Given the description of an element on the screen output the (x, y) to click on. 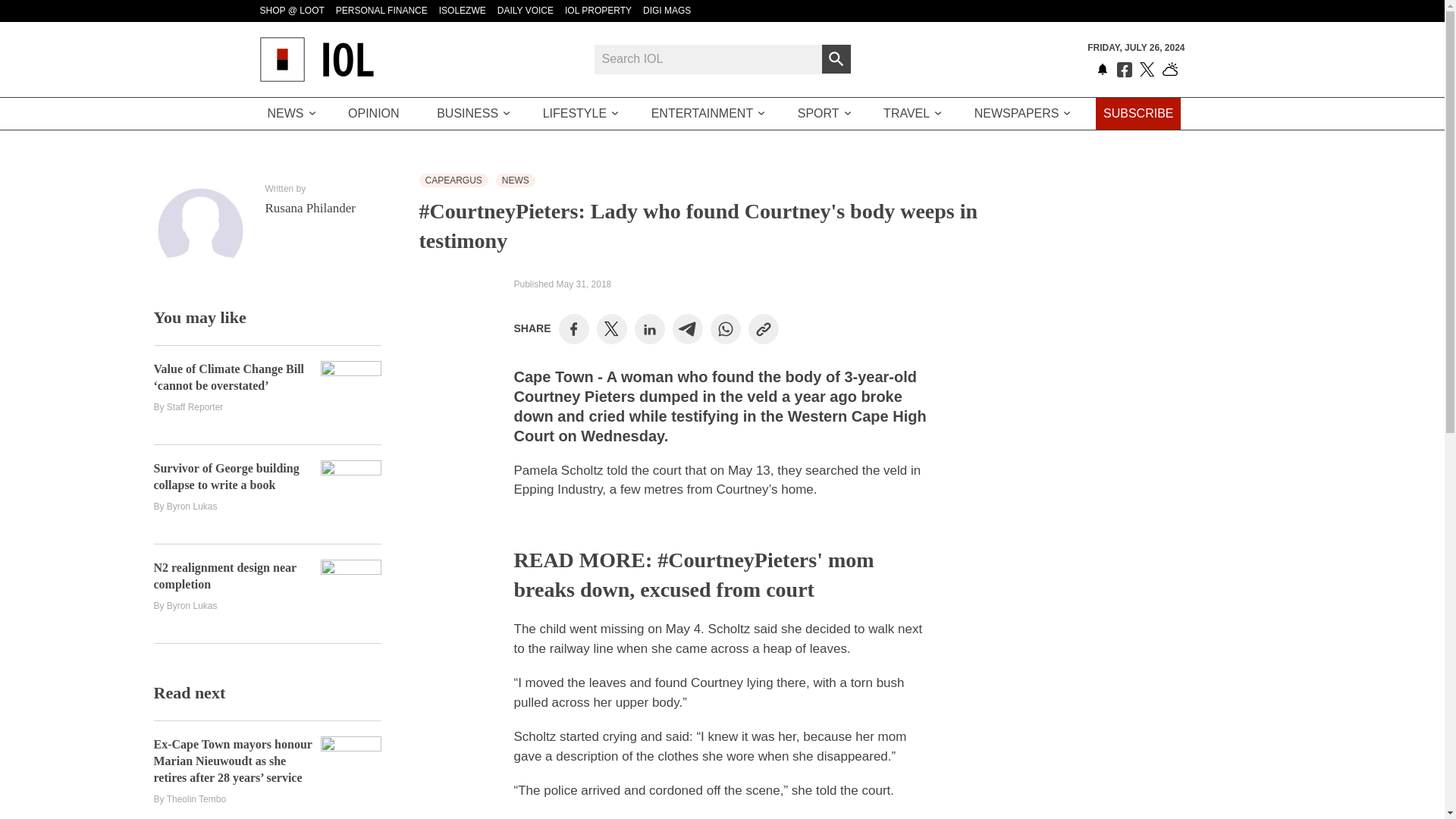
Share on Telegram (686, 328)
Share on WhatsApp (725, 328)
Follow us on Twitter (1147, 69)
Share on Facebook (573, 328)
Like us on Facebook (1124, 69)
Copy to Clipboard (763, 328)
Share on LinkedIn (648, 328)
Share on Twitter (611, 328)
